Given the description of an element on the screen output the (x, y) to click on. 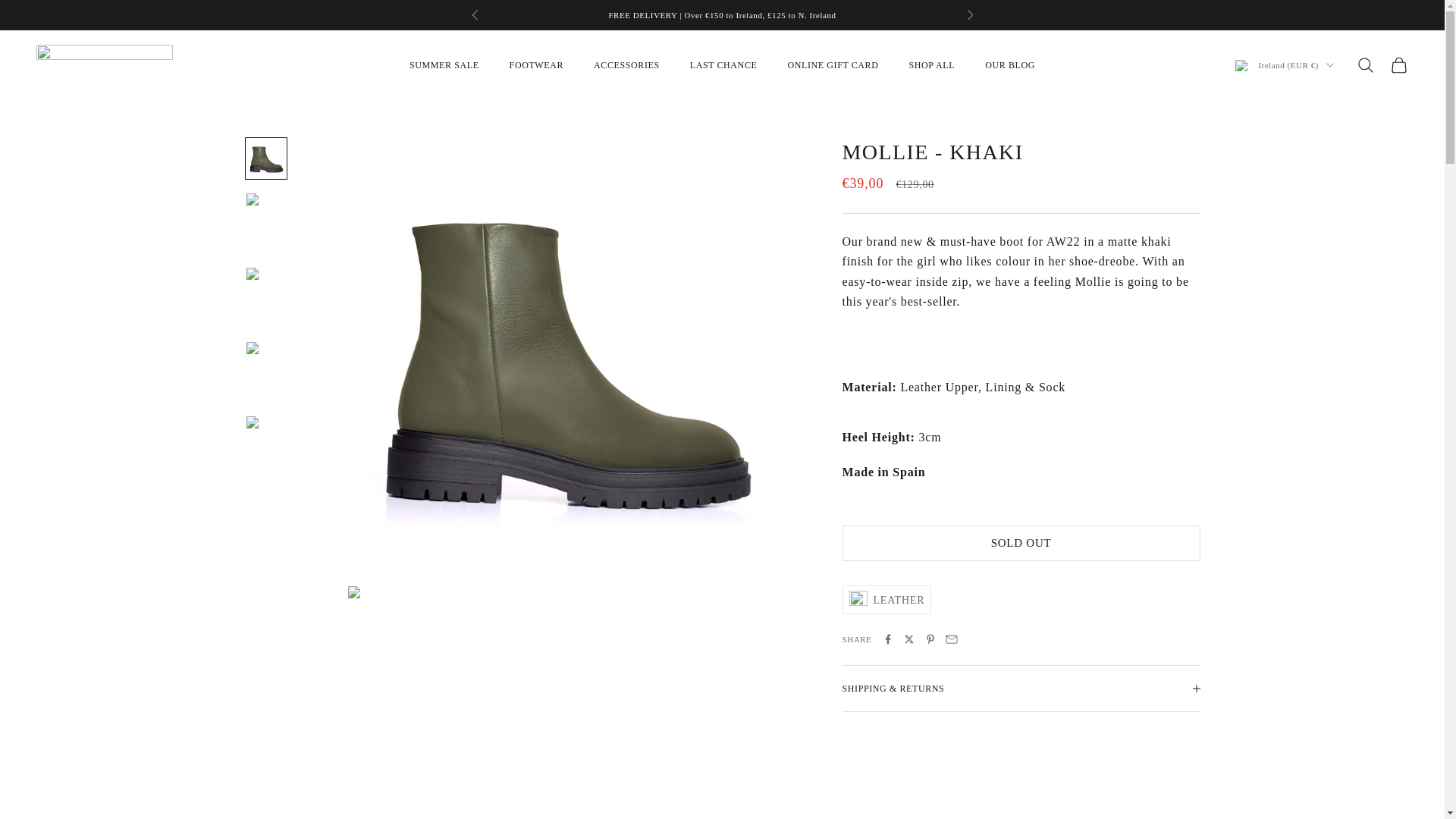
ONLINE GIFT CARD (832, 64)
LAST CHANCE (723, 64)
OUR BLOG (1010, 64)
SHOP ALL (931, 64)
SUMMER SALE (444, 64)
MantraOfficial (104, 65)
